Given the description of an element on the screen output the (x, y) to click on. 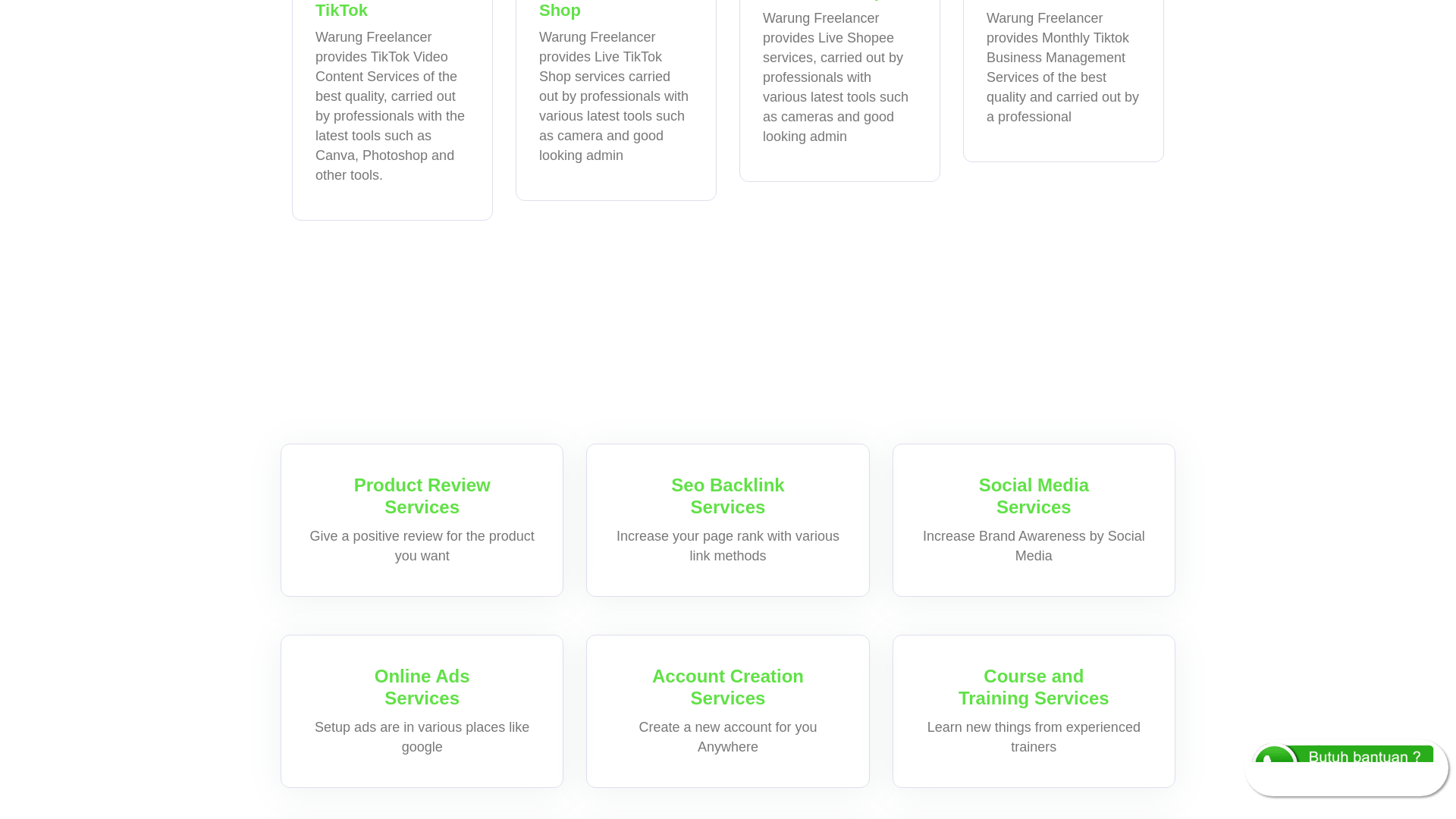
Jasa Konten Video TikTok (391, 9)
Jasa Live TikTok Shop (615, 9)
